Given the description of an element on the screen output the (x, y) to click on. 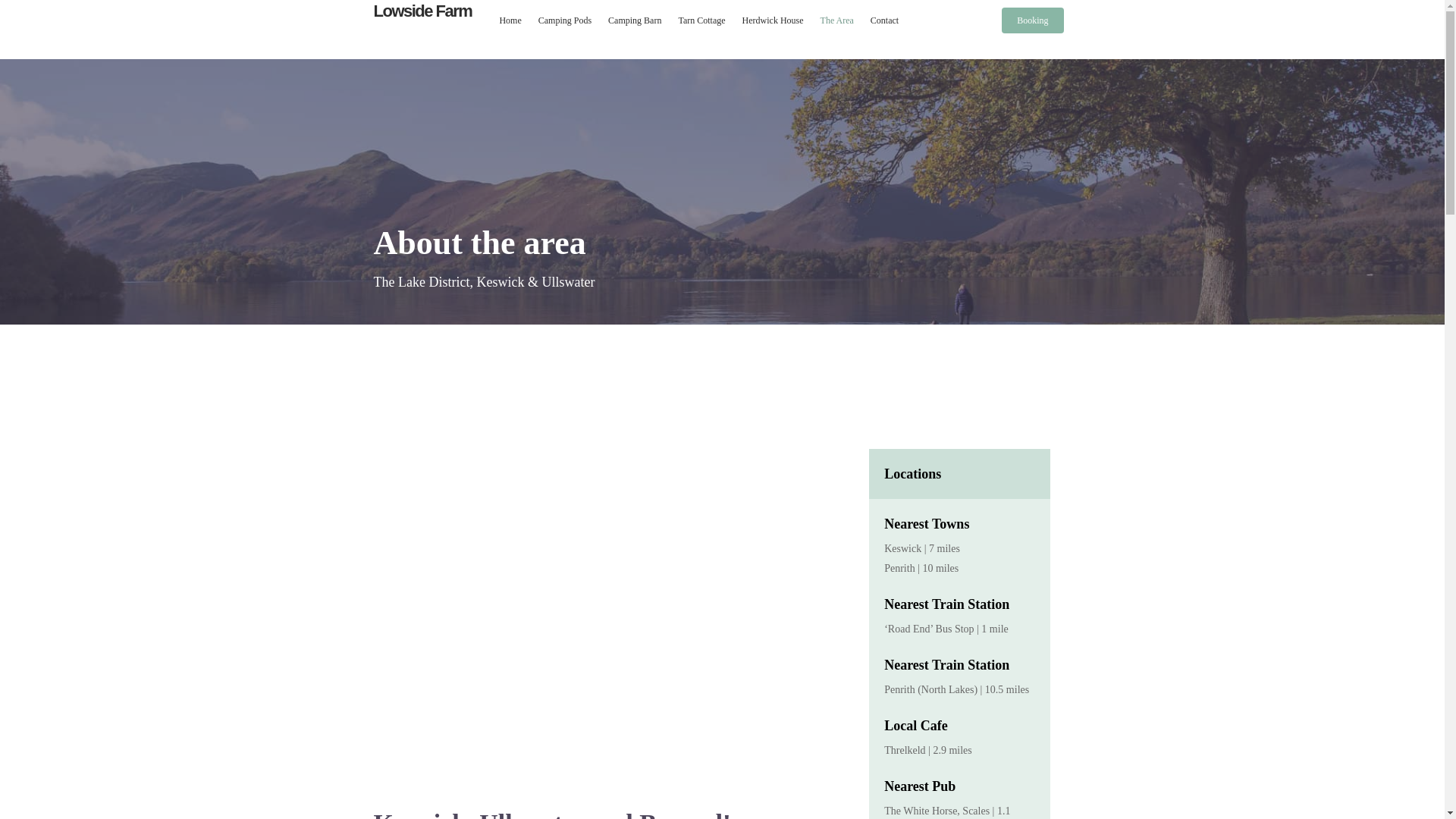
Booking (1031, 20)
Camping Pods (564, 20)
Herdwick House (772, 20)
Home (510, 20)
Lowside Farm (421, 11)
Contact (884, 20)
The Area (836, 20)
Camping Barn (633, 20)
Tarn Cottage (700, 20)
